Given the description of an element on the screen output the (x, y) to click on. 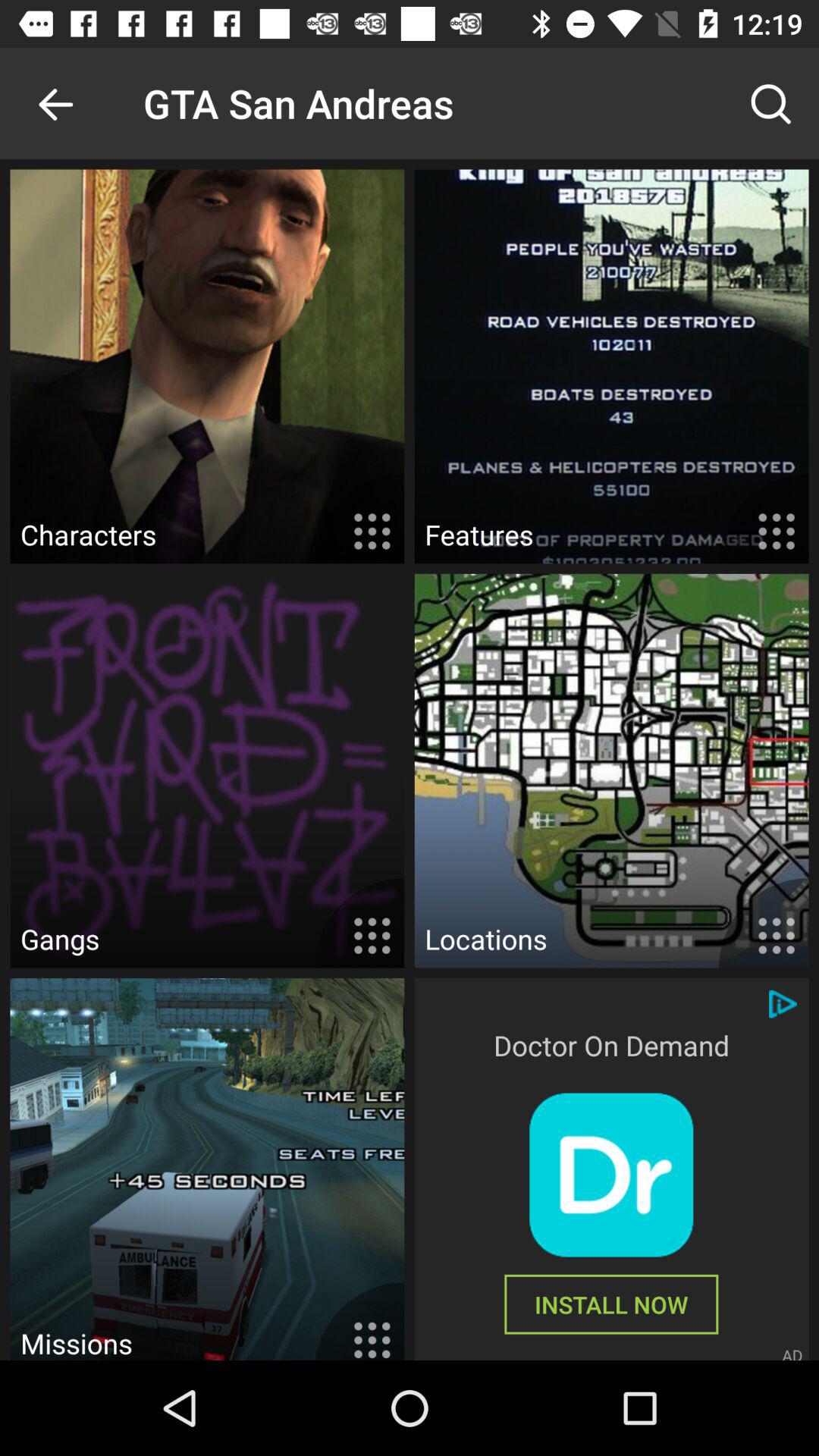
open the item to the left of gta san andreas (55, 103)
